Given the description of an element on the screen output the (x, y) to click on. 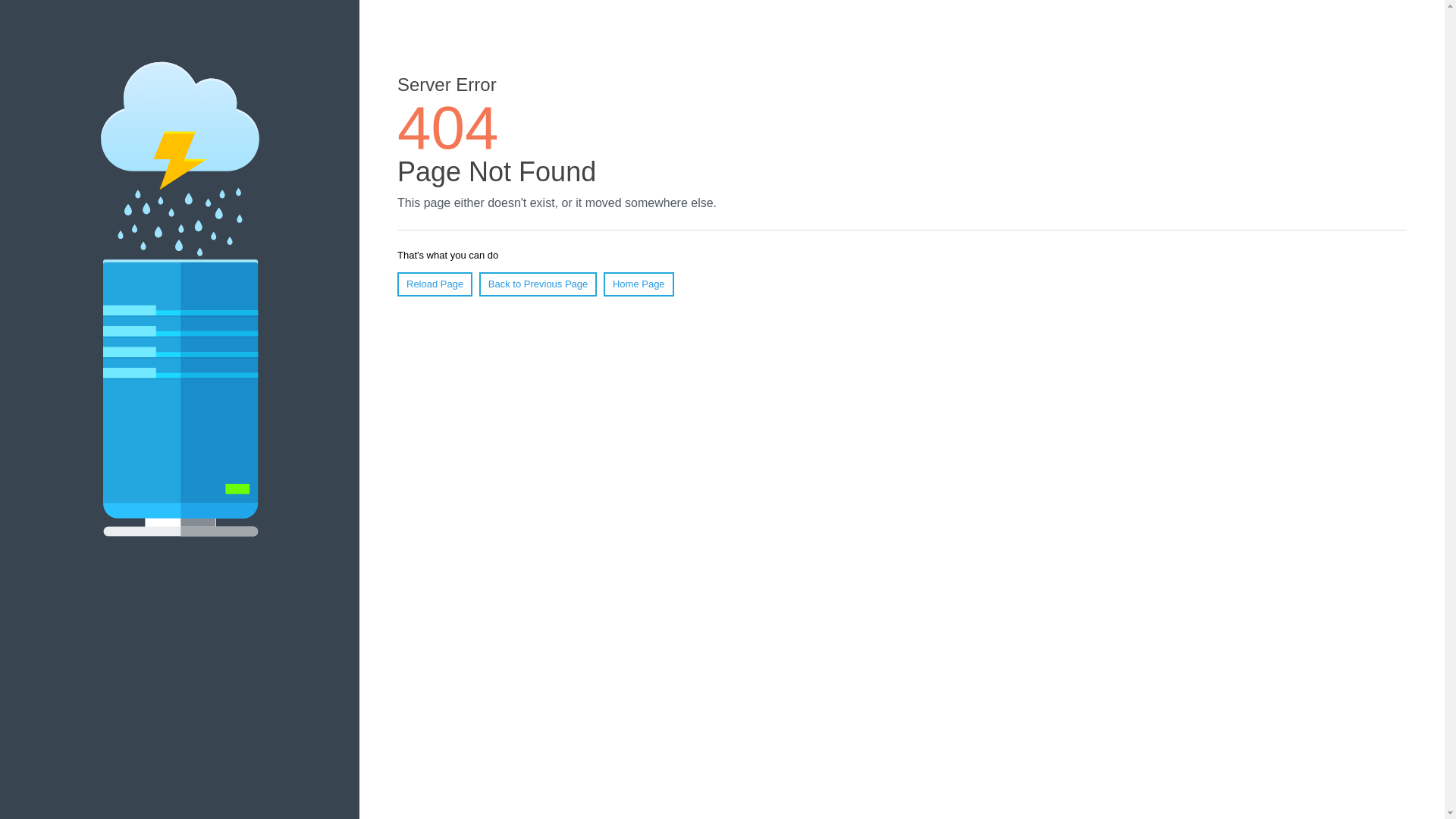
Reload Page Element type: text (434, 284)
Home Page Element type: text (638, 284)
Back to Previous Page Element type: text (538, 284)
